Given the description of an element on the screen output the (x, y) to click on. 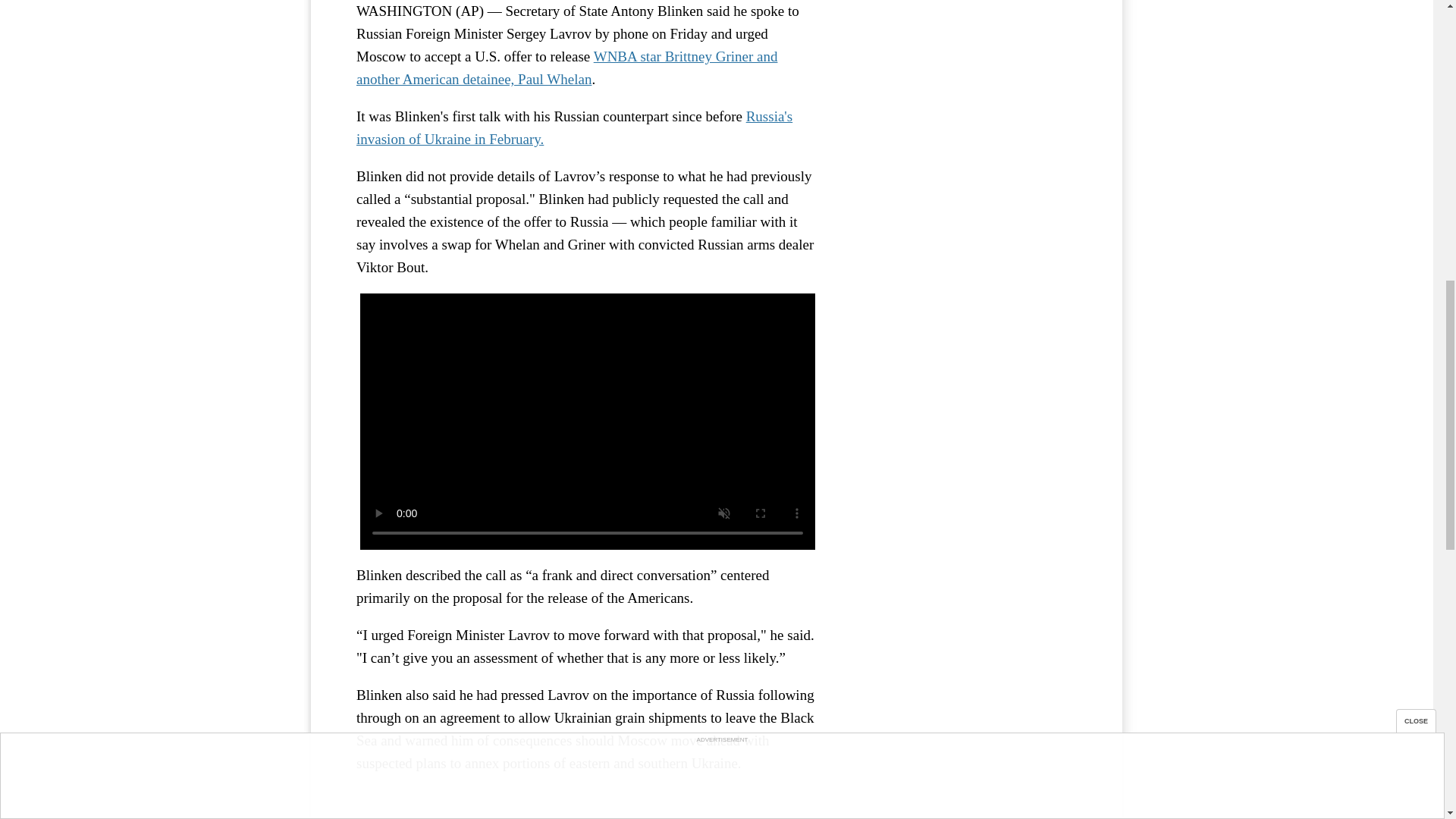
3rd party ad content (962, 41)
